Given the description of an element on the screen output the (x, y) to click on. 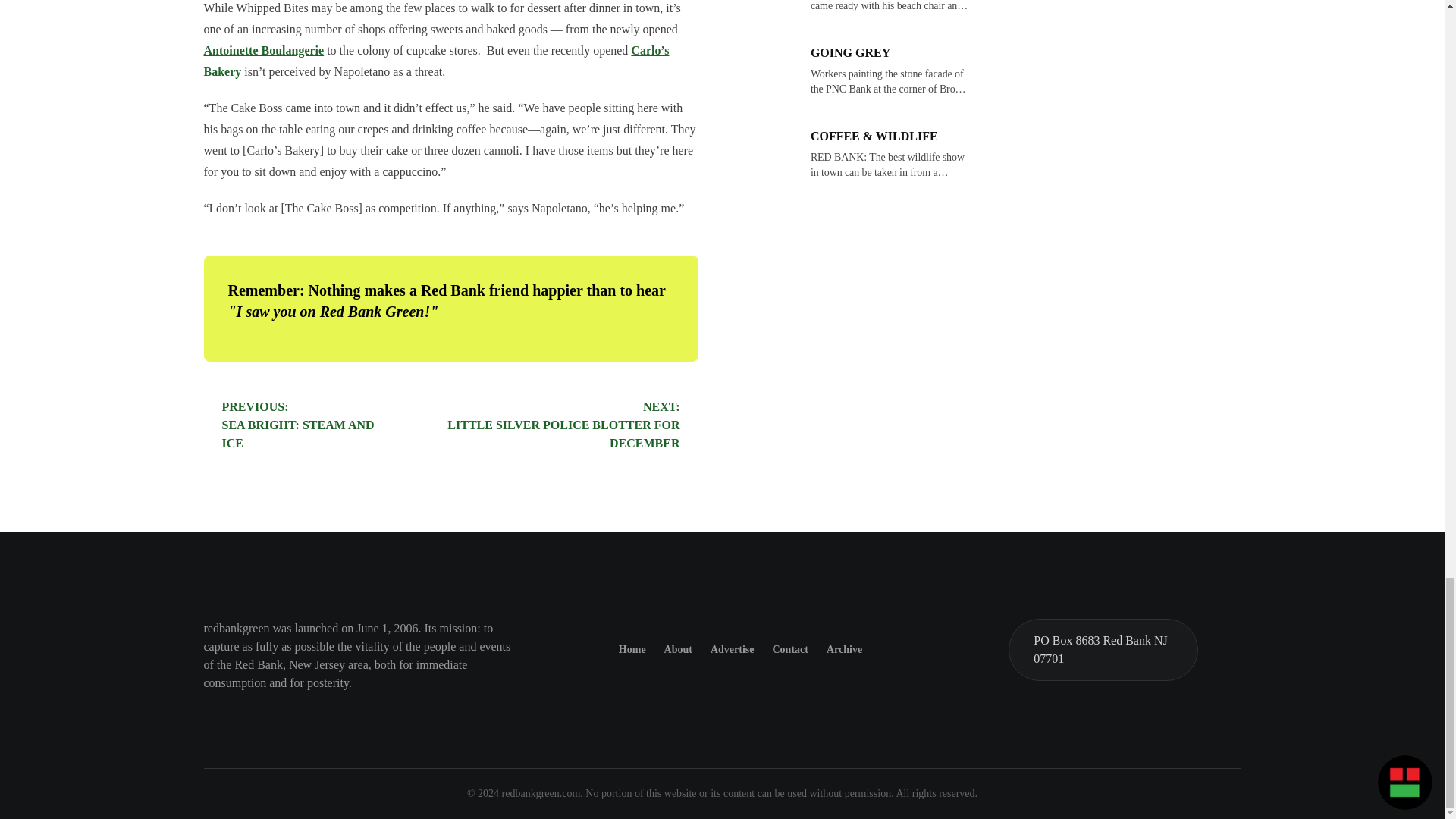
Antoinette Boulangerie (562, 424)
